Given the description of an element on the screen output the (x, y) to click on. 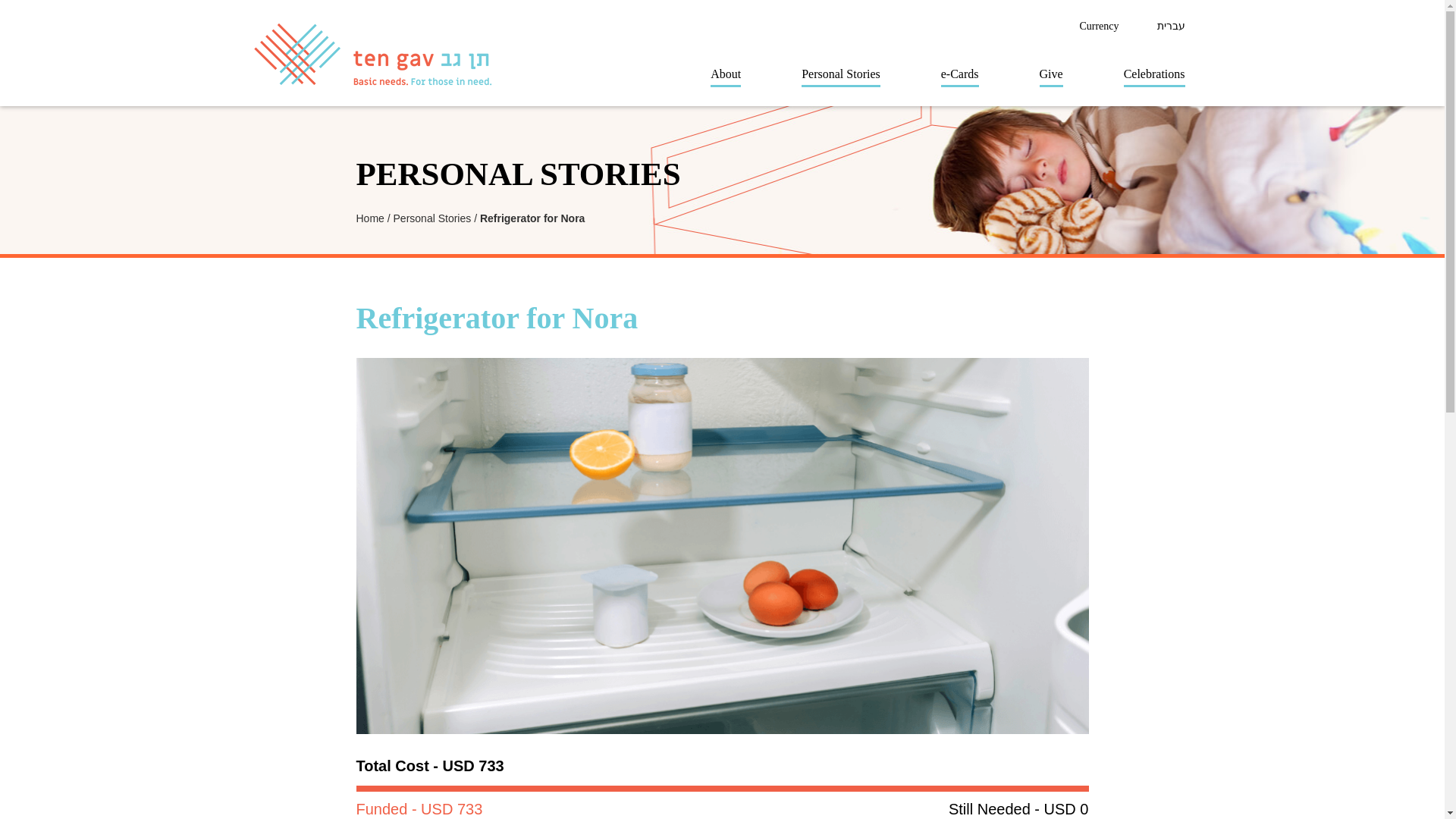
Refrigerator for Nora (532, 218)
Personal Stories (432, 218)
About (725, 73)
e-Cards (960, 73)
Celebrations (1154, 73)
Personal Stories (840, 73)
Give (1051, 73)
Home (370, 218)
